Given the description of an element on the screen output the (x, y) to click on. 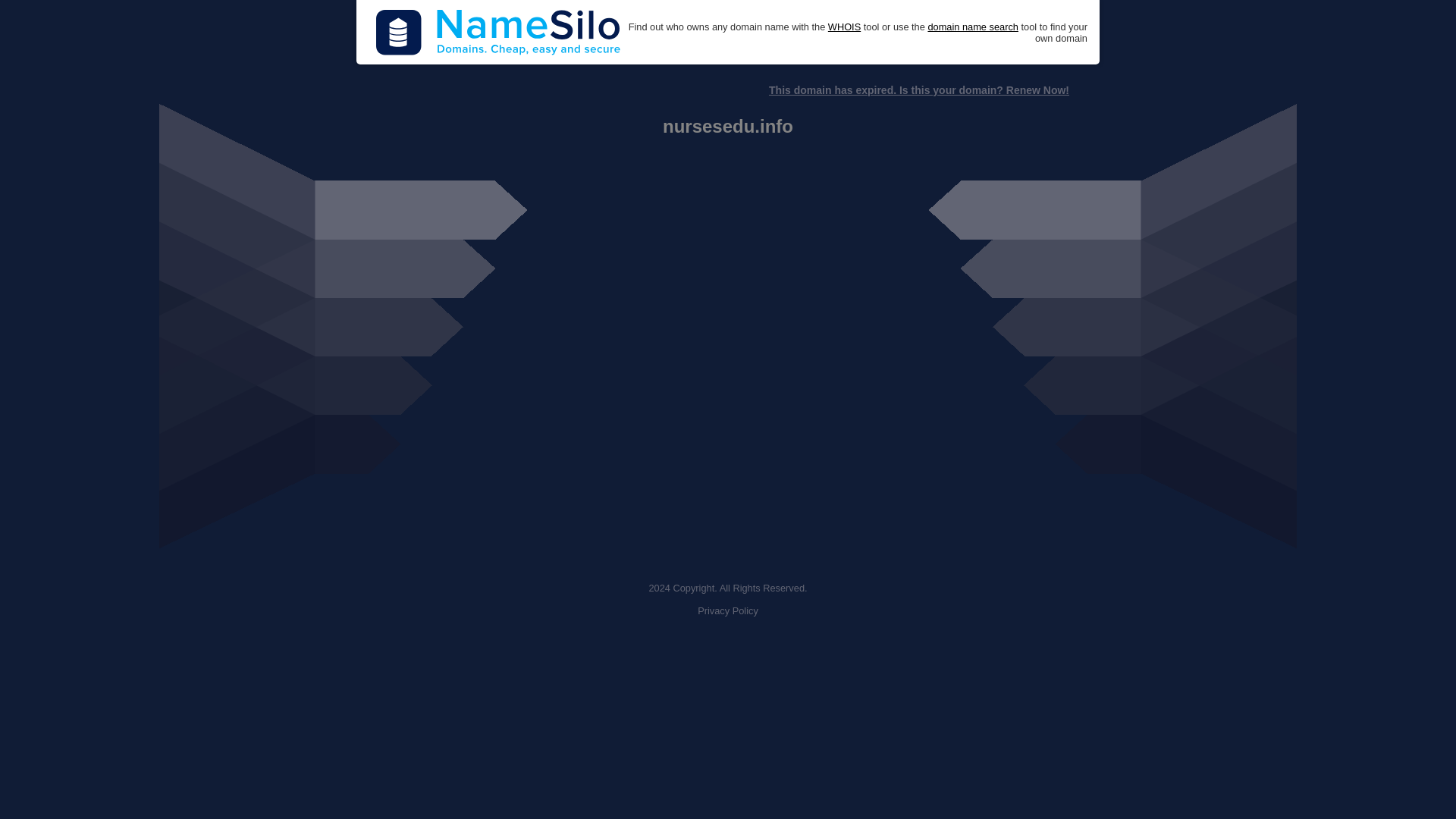
This domain has expired. Is this your domain? Renew Now! (918, 90)
domain name search (972, 26)
Privacy Policy (727, 610)
WHOIS (844, 26)
